Given the description of an element on the screen output the (x, y) to click on. 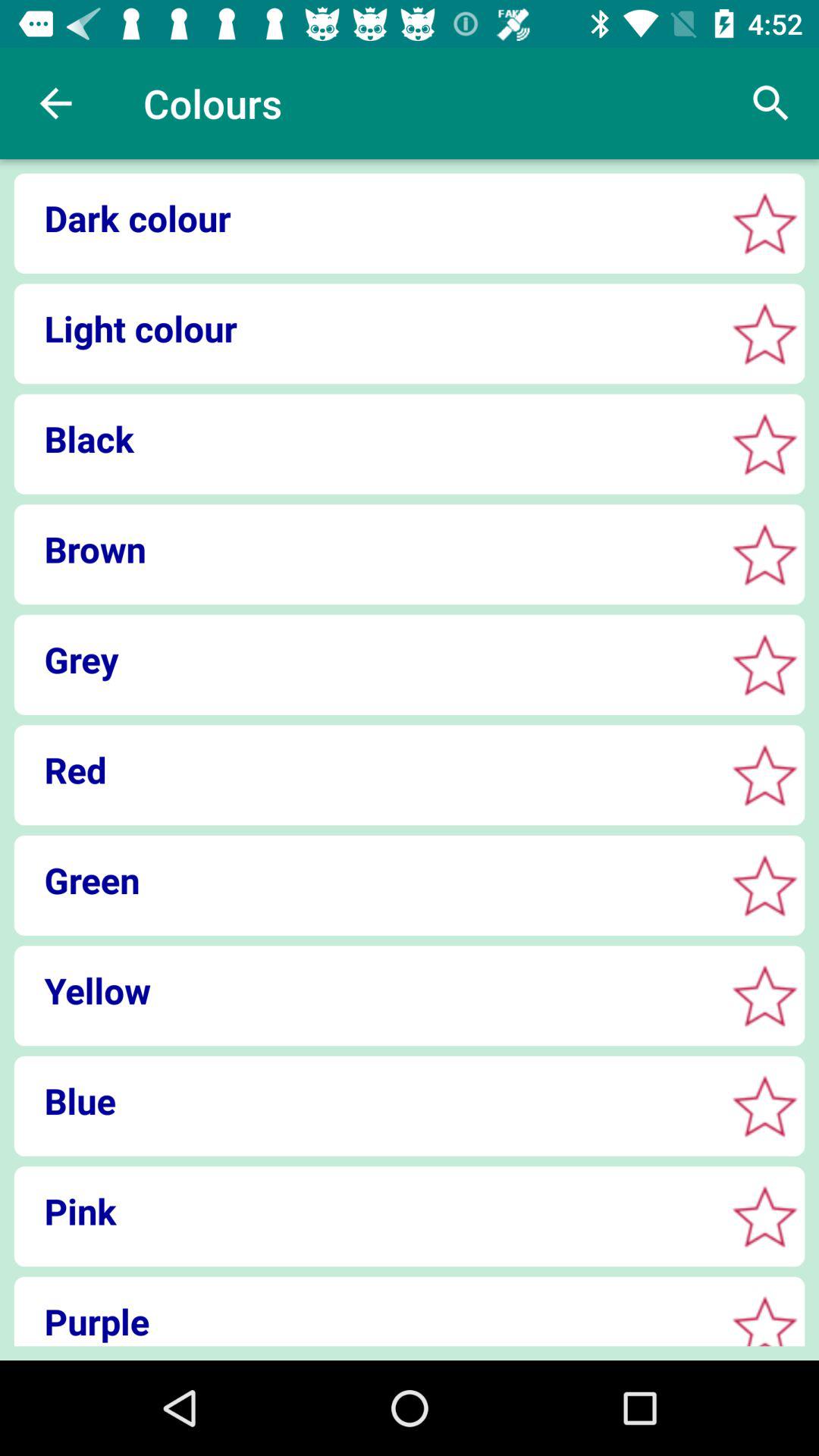
turn on icon above the light colour (364, 217)
